Given the description of an element on the screen output the (x, y) to click on. 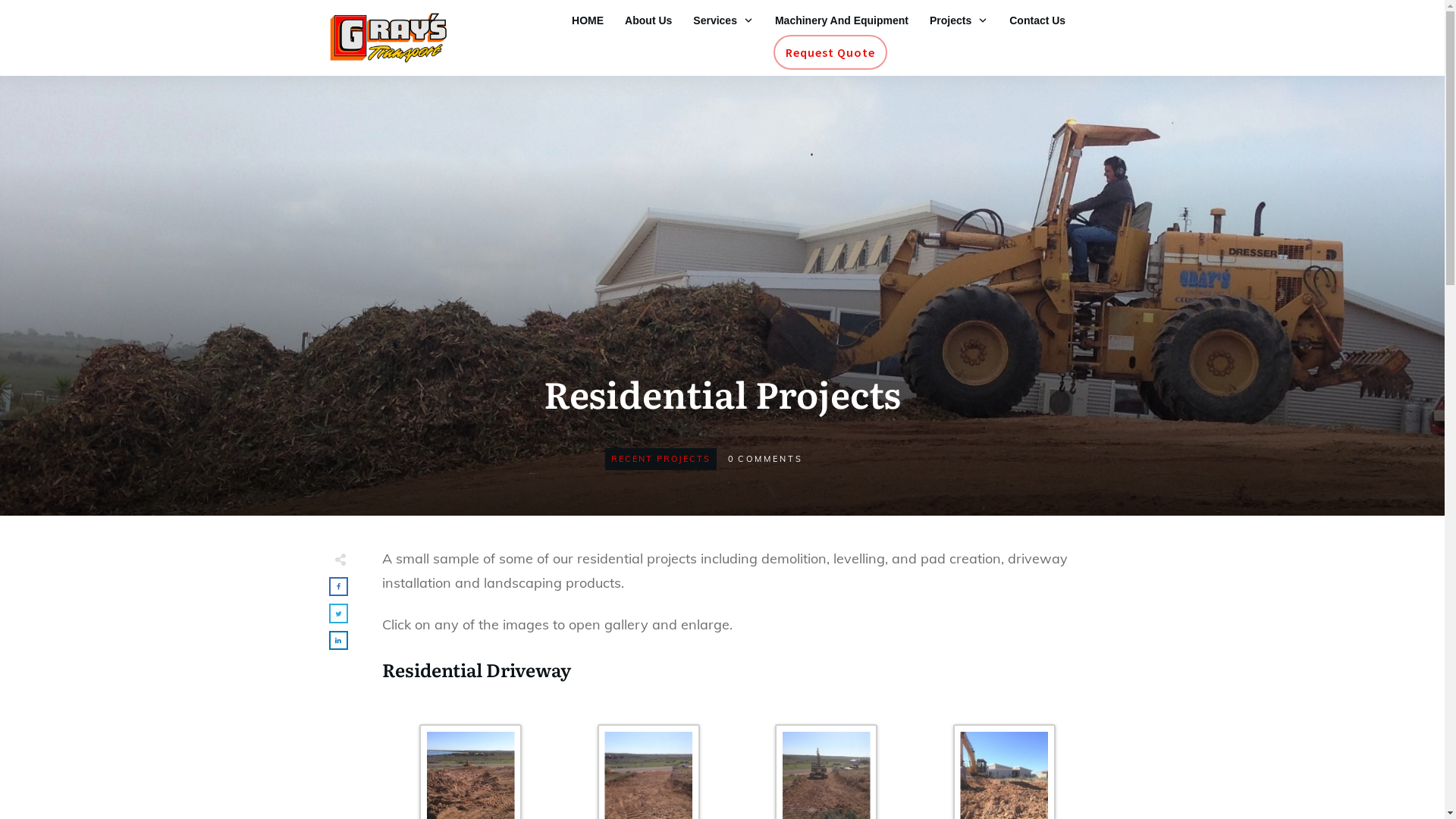
Request Quote Element type: text (830, 52)
Projects Element type: text (958, 20)
Contact Us Element type: text (1037, 20)
About Us Element type: text (647, 20)
Machinery And Equipment Element type: text (841, 20)
HOME Element type: text (587, 20)
Services Element type: text (723, 20)
RECENT PROJECTS Element type: text (660, 458)
